Given the description of an element on the screen output the (x, y) to click on. 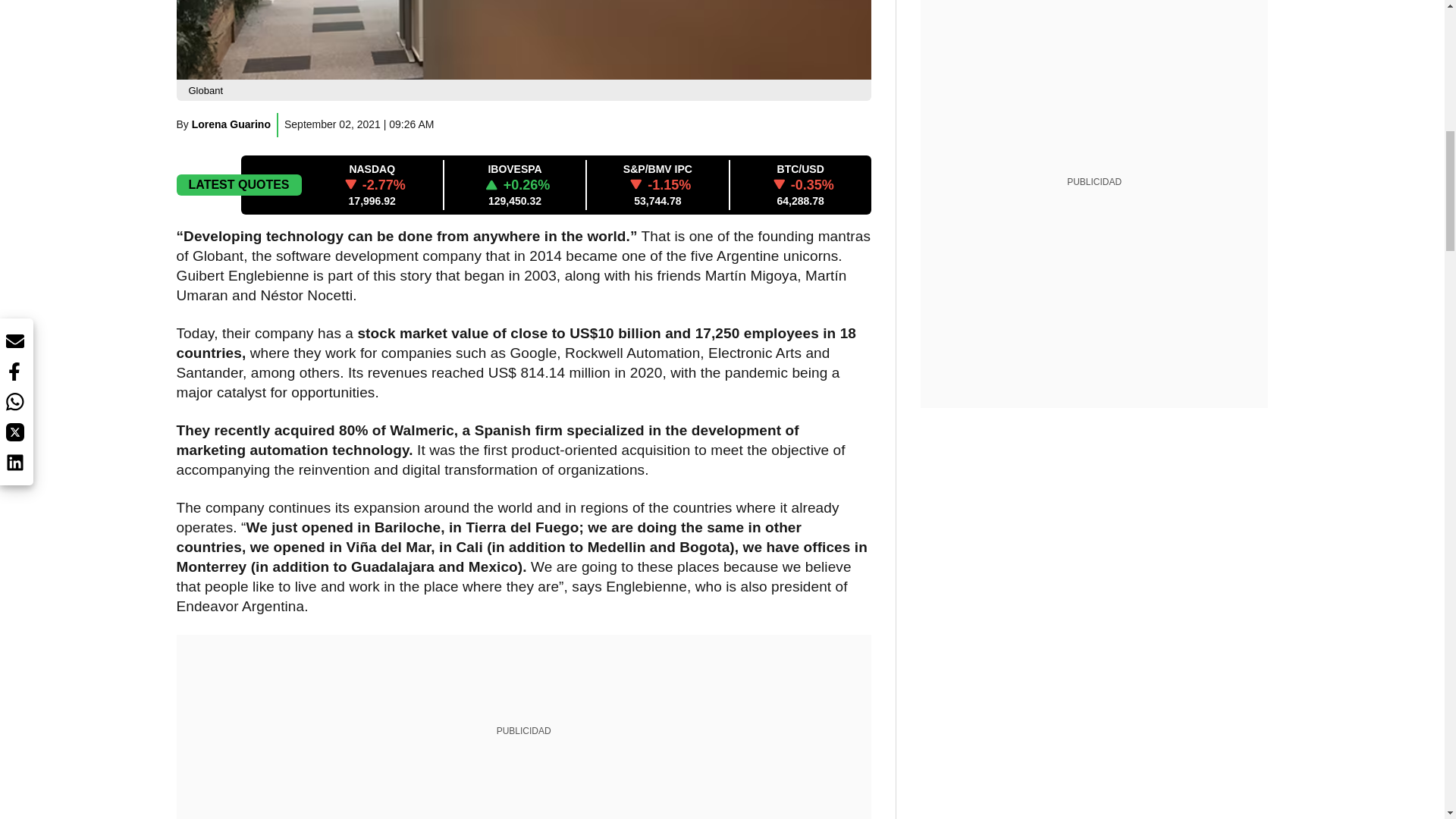
Globant (523, 39)
